Given the description of an element on the screen output the (x, y) to click on. 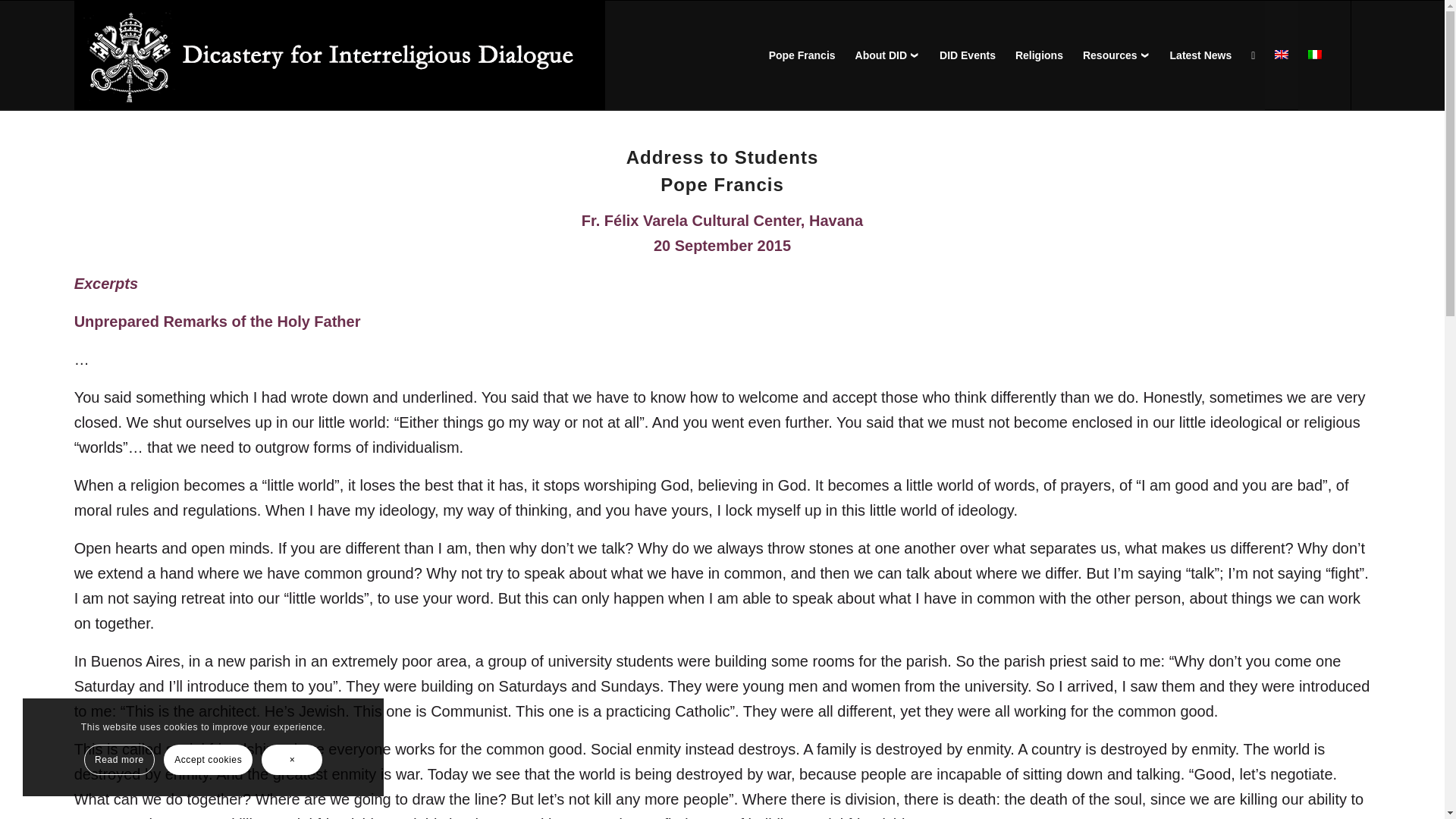
Accept cookies (207, 759)
Italiano (1314, 53)
English (1281, 53)
logo for website May 2022 WHITE (339, 56)
Read more (119, 759)
logo for website May 2022 WHITE (339, 54)
